Given the description of an element on the screen output the (x, y) to click on. 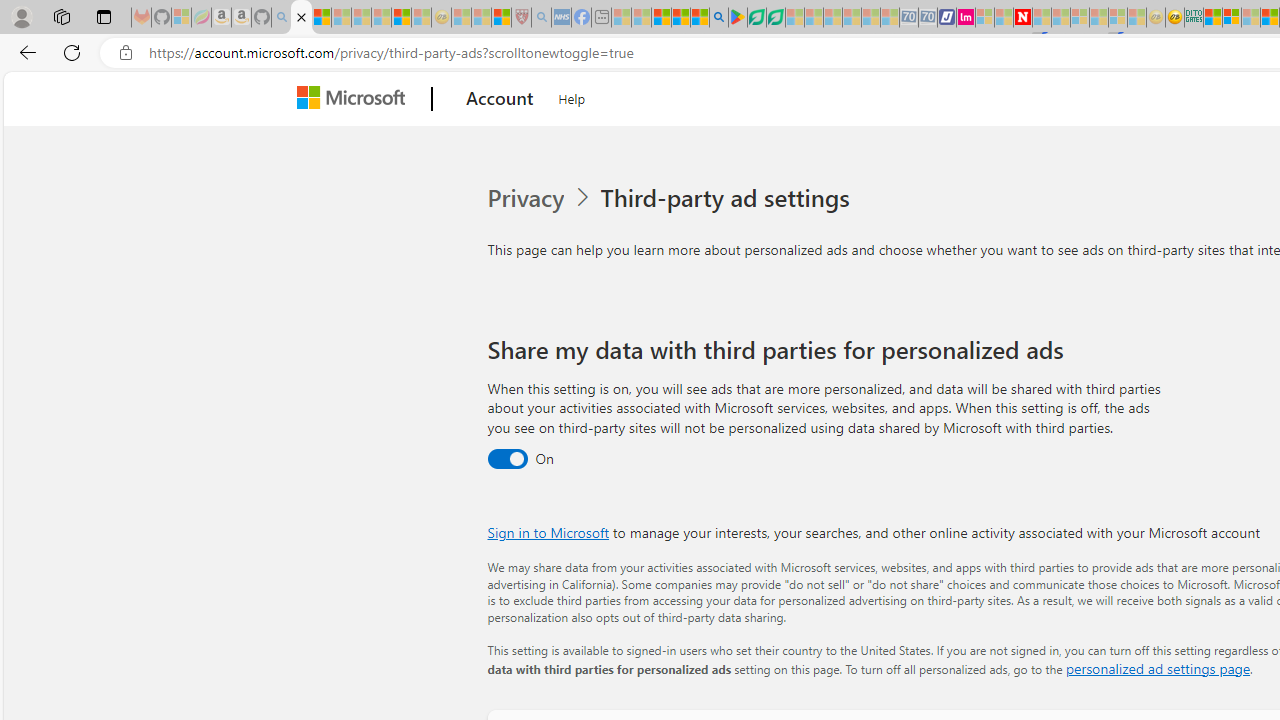
Cheap Car Rentals - Save70.com - Sleeping (908, 17)
Account (499, 99)
MSNBC - MSN - Sleeping (621, 17)
Third-party ad settings (729, 197)
Third party data sharing toggle (506, 459)
Pets - MSN (680, 17)
